Given the description of an element on the screen output the (x, y) to click on. 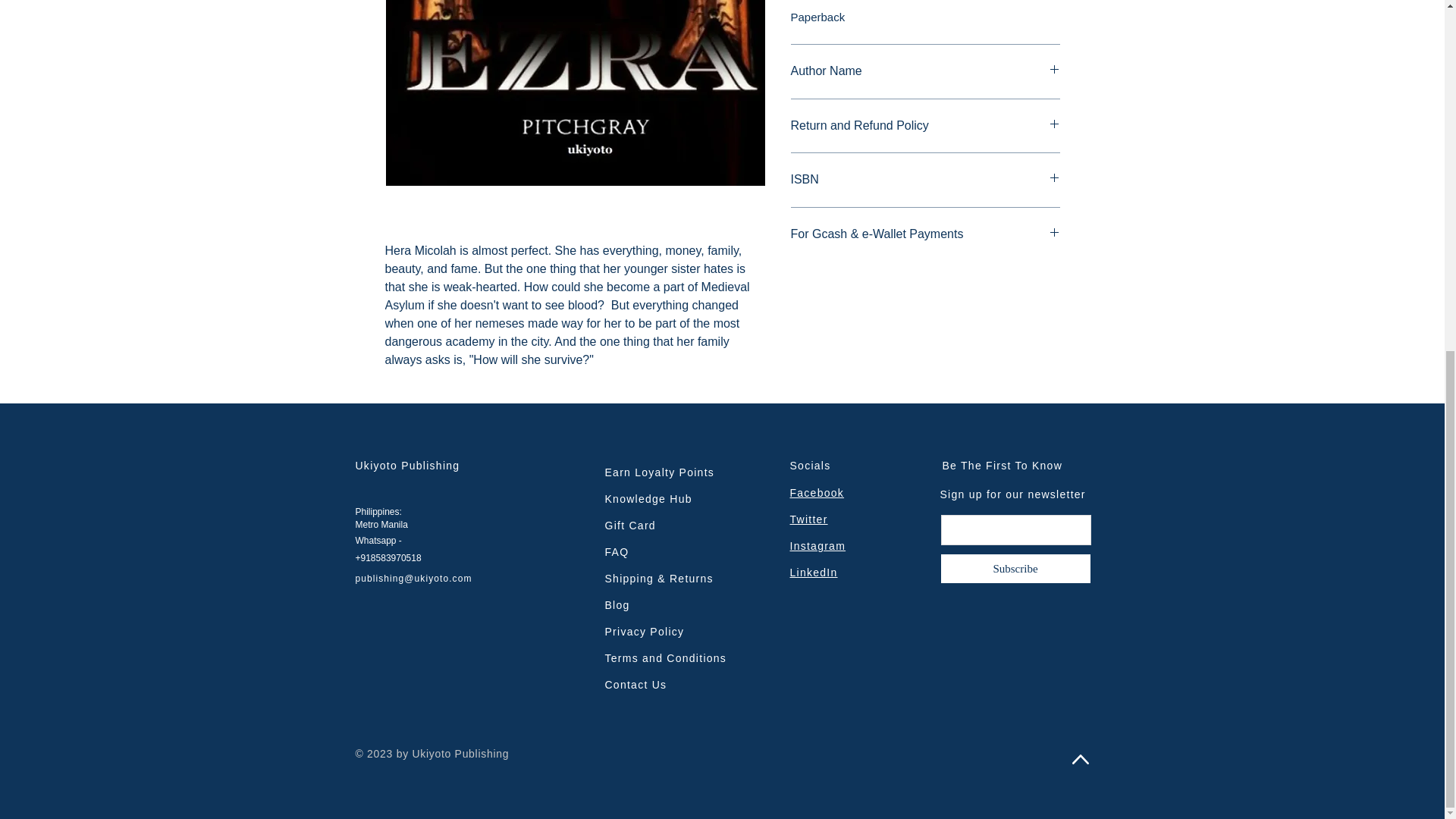
Author Name (924, 71)
Instagram (817, 545)
Gift Card (630, 525)
Return and Refund Policy (924, 125)
FAQ (616, 551)
Twitter (809, 519)
LinkedIn (814, 572)
Subscribe (1016, 568)
Contact Us (635, 684)
Earn Loyalty Points (659, 472)
